Given the description of an element on the screen output the (x, y) to click on. 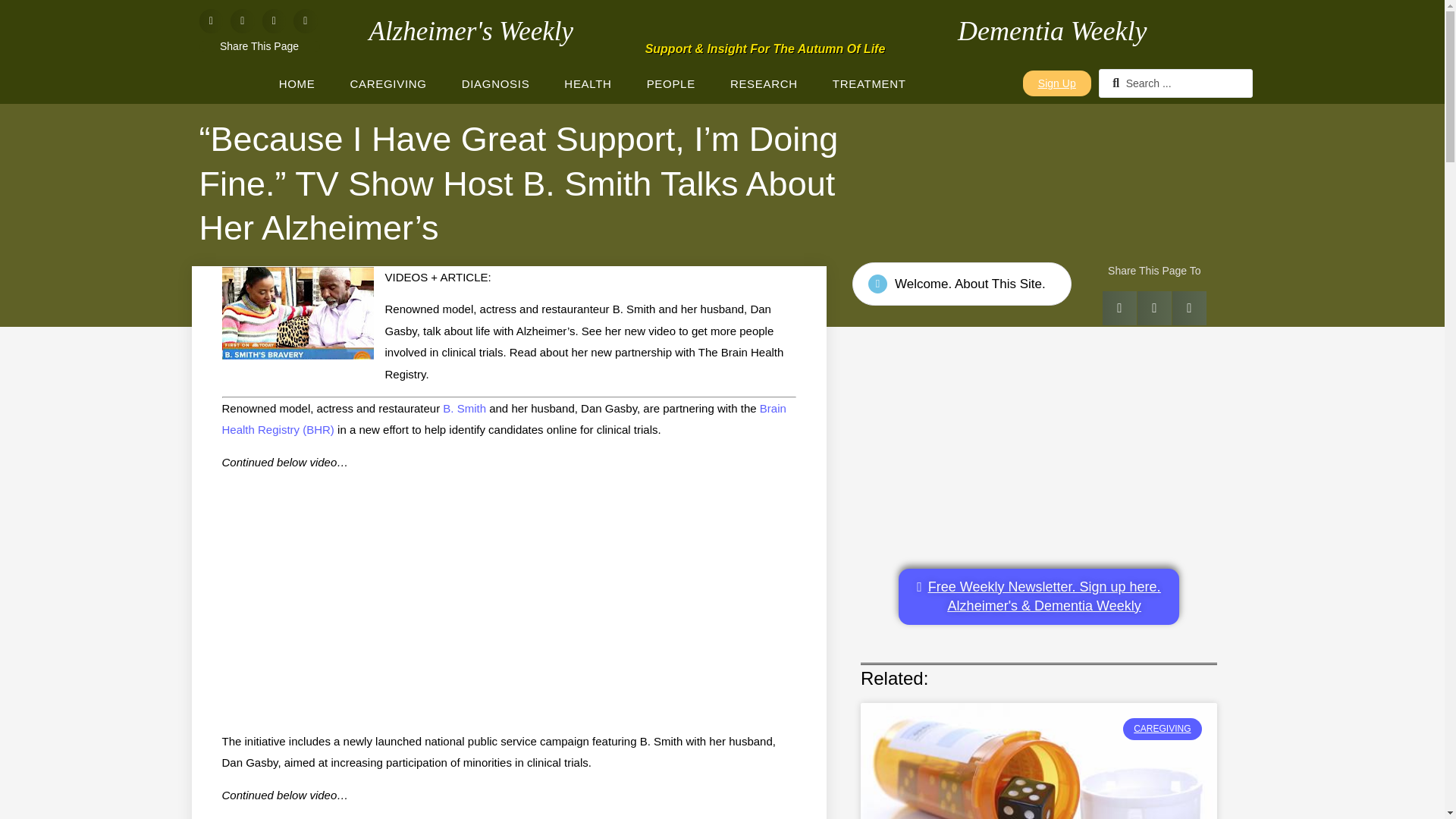
HOME (296, 83)
Dementia Weekly (1052, 30)
Alzheimer'S Weekly (470, 30)
DIAGNOSIS (495, 83)
CAREGIVING (388, 83)
HEALTH (587, 83)
